Given the description of an element on the screen output the (x, y) to click on. 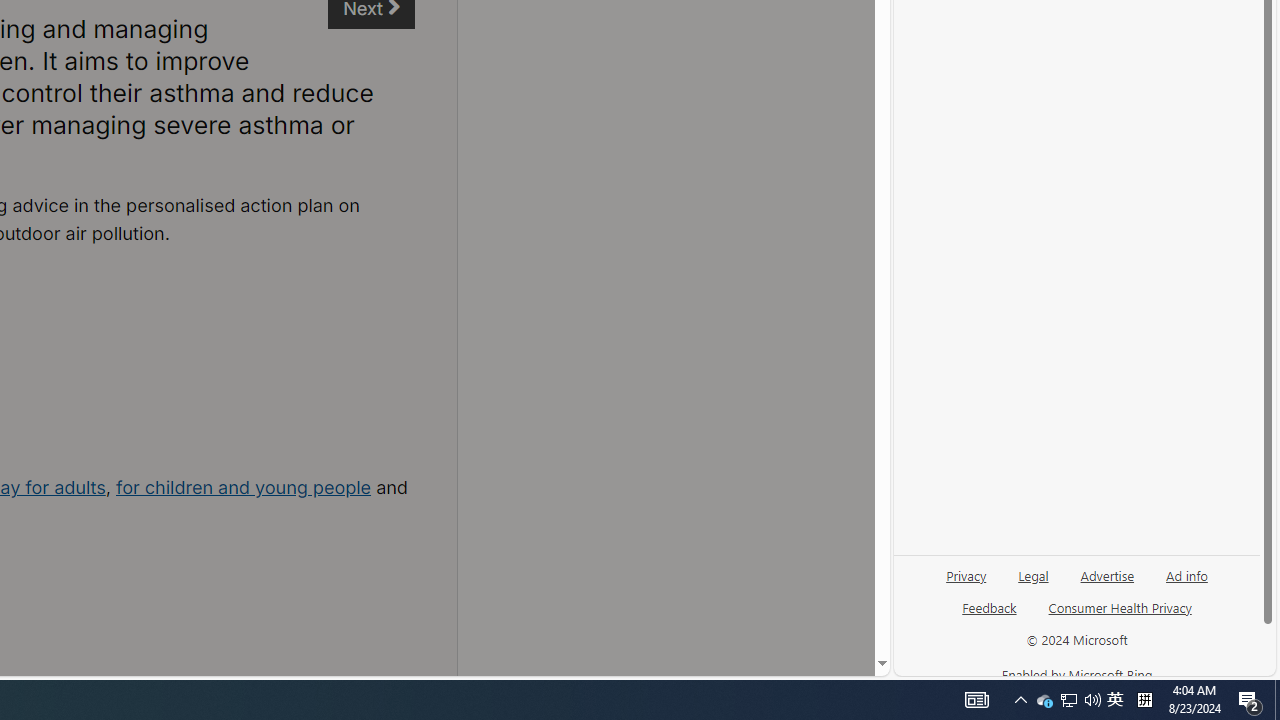
for children and young people (244, 487)
